Given the description of an element on the screen output the (x, y) to click on. 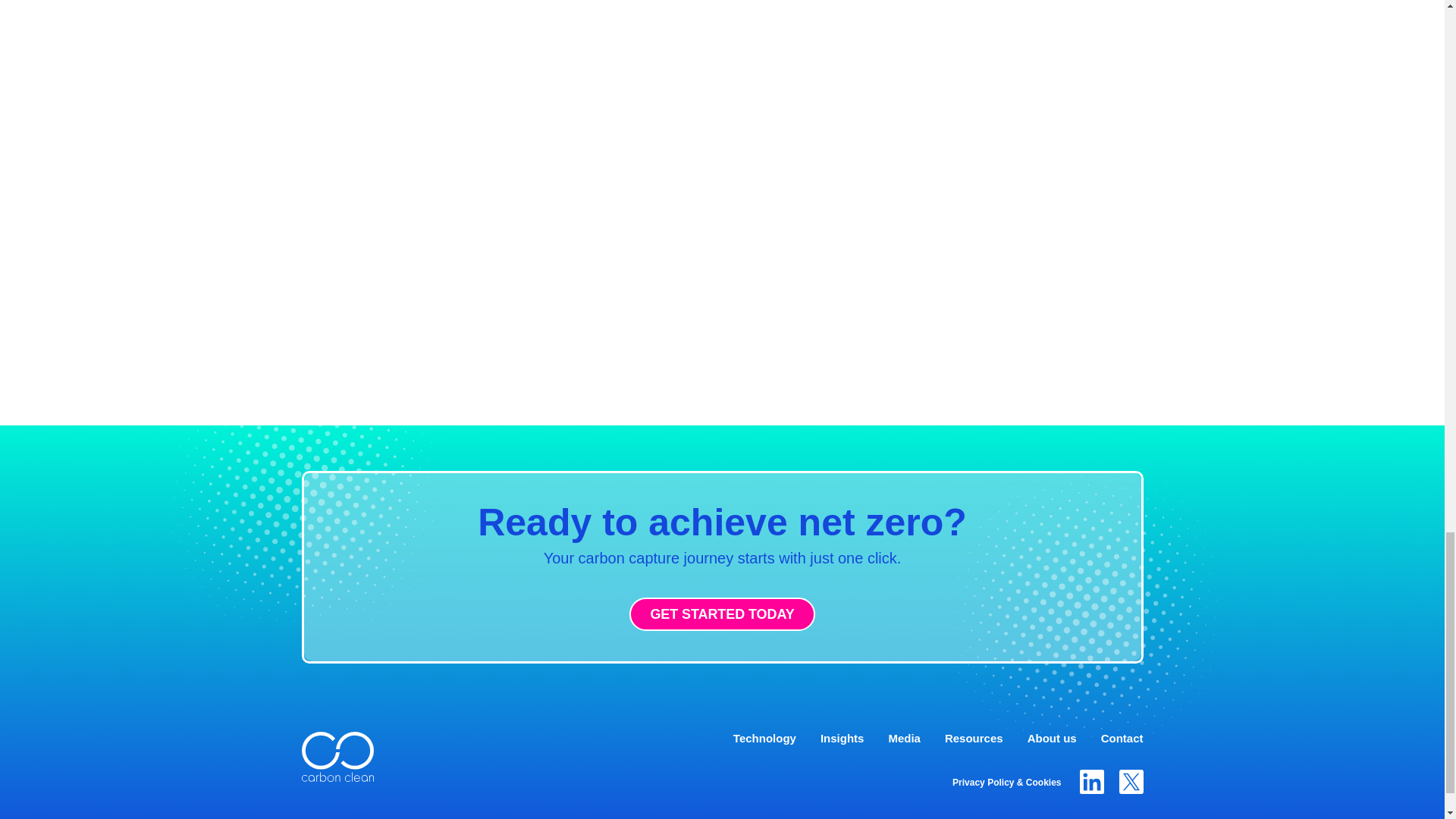
About us (1052, 738)
GET STARTED TODAY (720, 613)
Insights (842, 738)
Media (904, 738)
Contact (1121, 738)
Technology (764, 738)
Resources (973, 738)
